Given the description of an element on the screen output the (x, y) to click on. 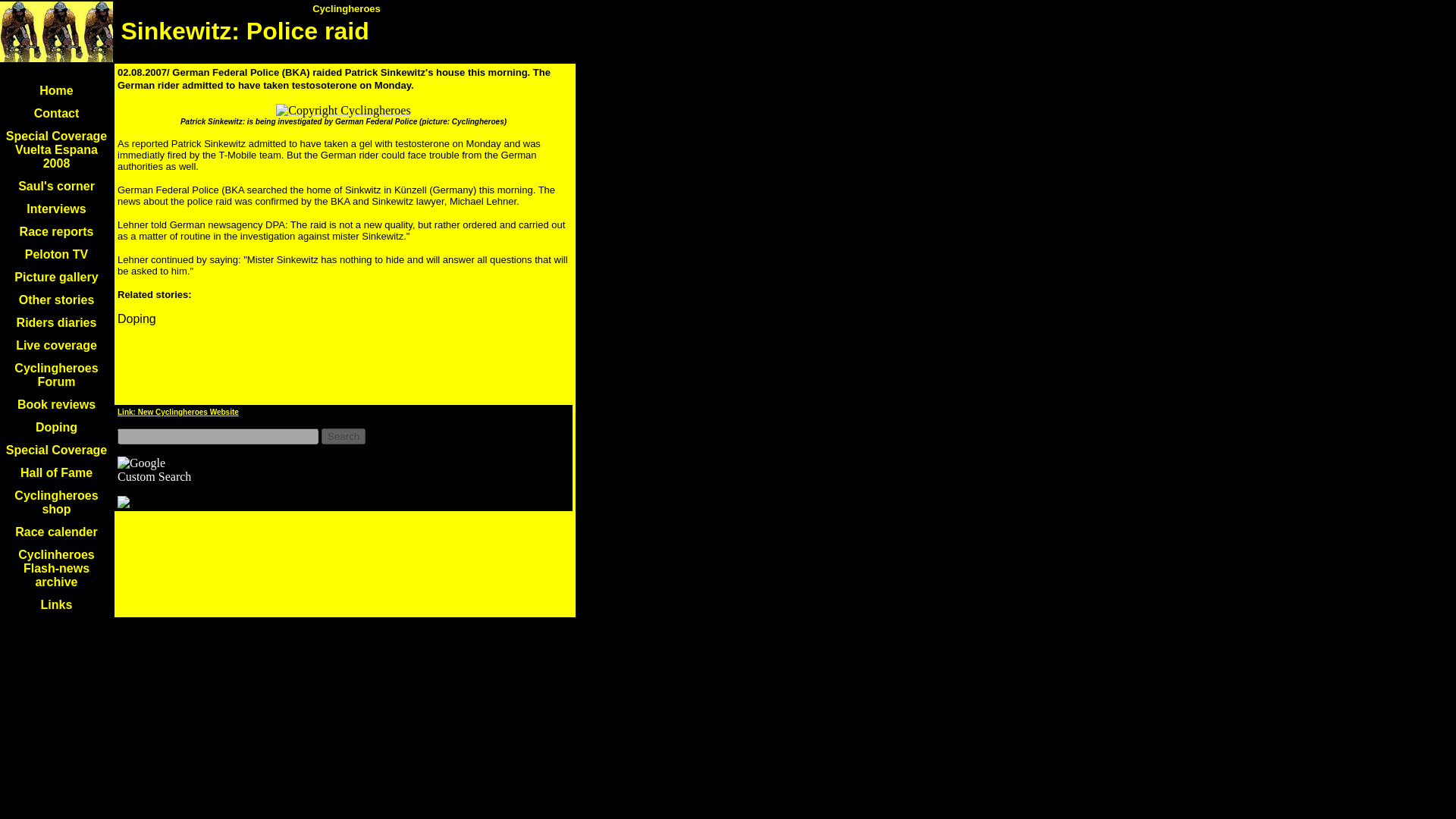
Race calender (55, 531)
Search (343, 436)
Search (343, 436)
Link: New Cyclingheroes Website (177, 411)
Cyclinheroes Flash-news archive (55, 567)
Links (56, 604)
Live coverage (56, 345)
Home (55, 90)
Interviews (55, 208)
Hall of Fame (56, 472)
